Given the description of an element on the screen output the (x, y) to click on. 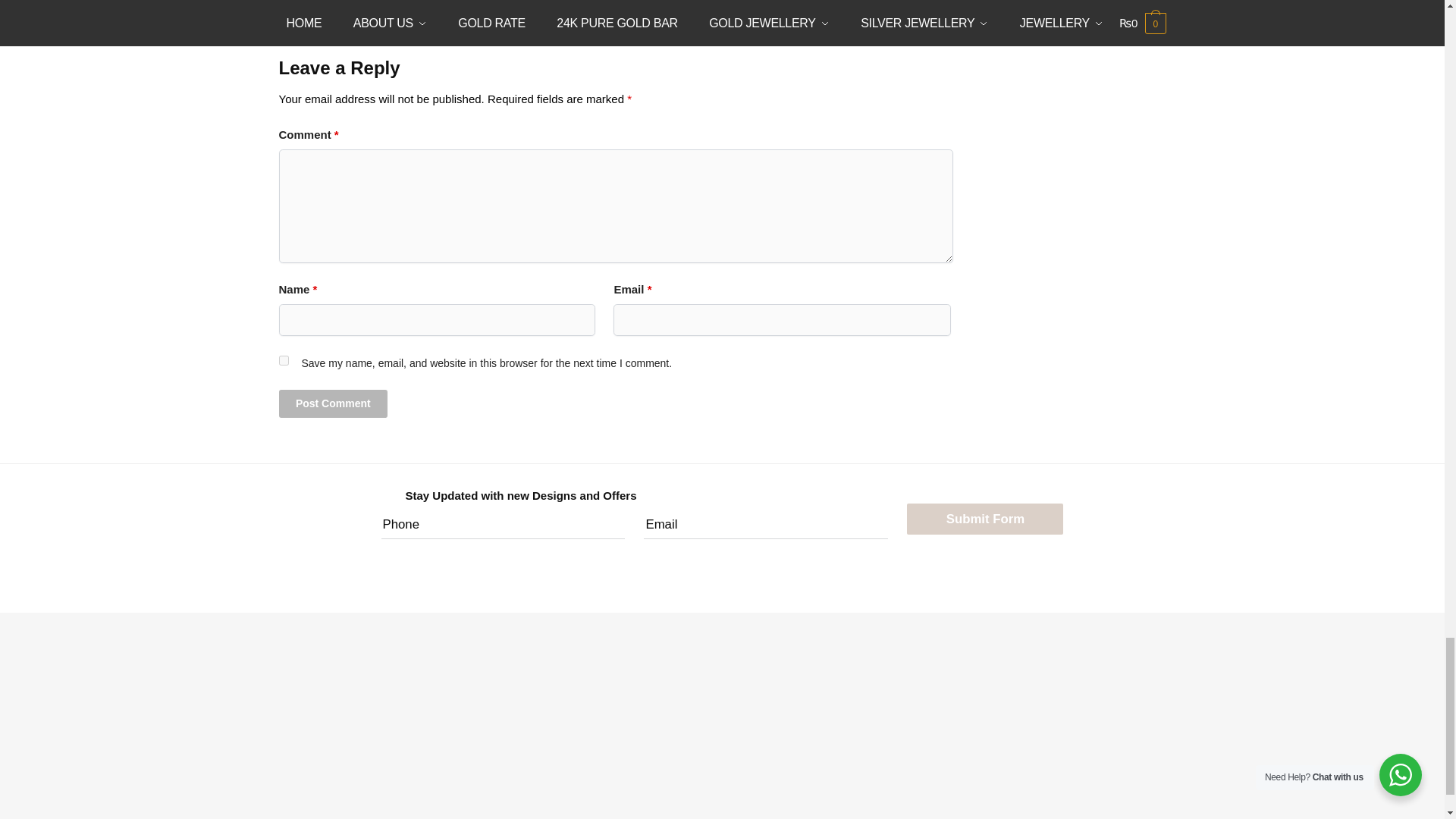
Post Comment (333, 403)
yes (283, 360)
